Given the description of an element on the screen output the (x, y) to click on. 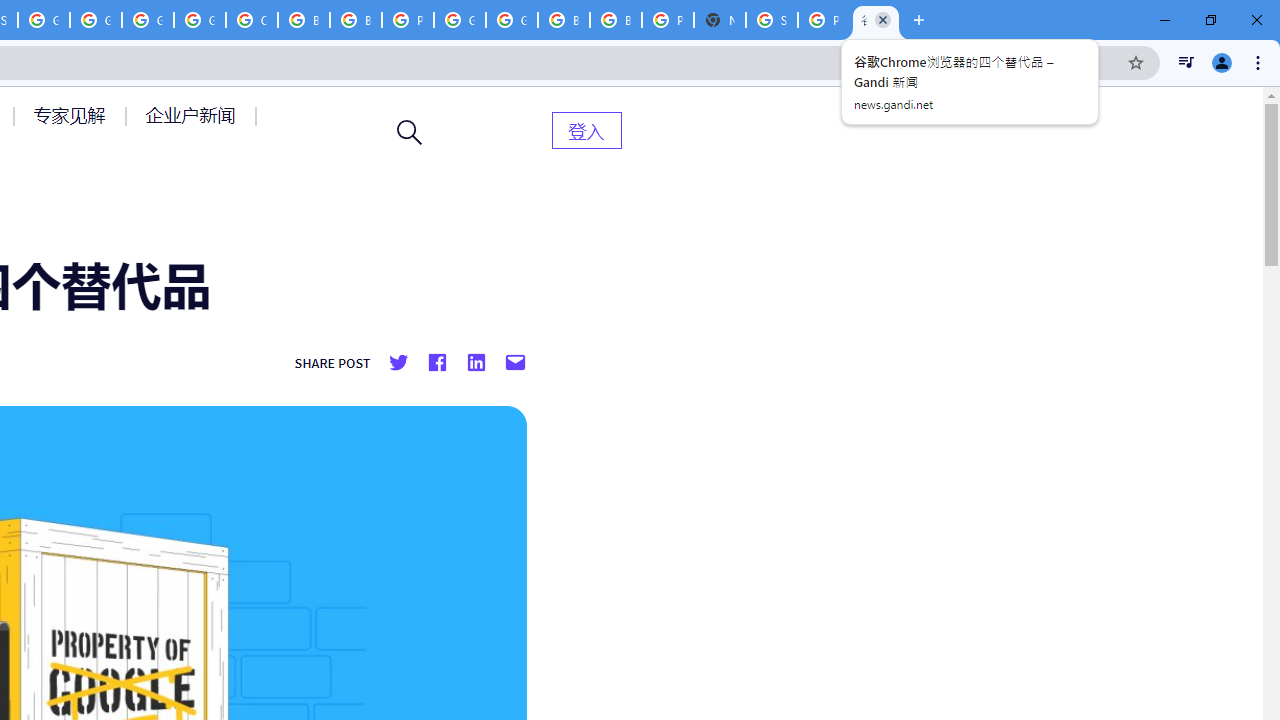
Google Cloud Platform (511, 20)
Share on facebook (436, 363)
